Given the description of an element on the screen output the (x, y) to click on. 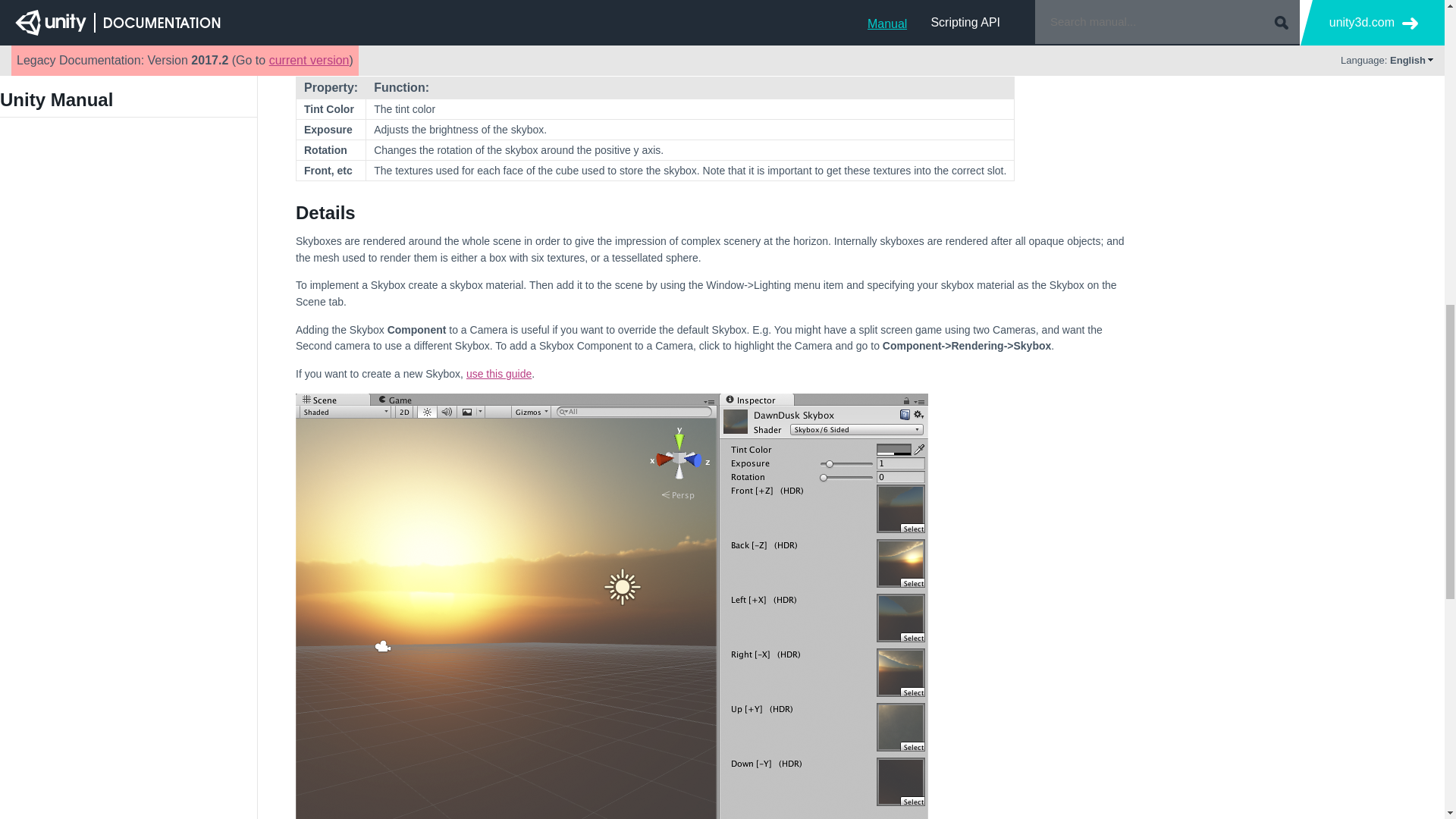
use this guide (498, 373)
